Given the description of an element on the screen output the (x, y) to click on. 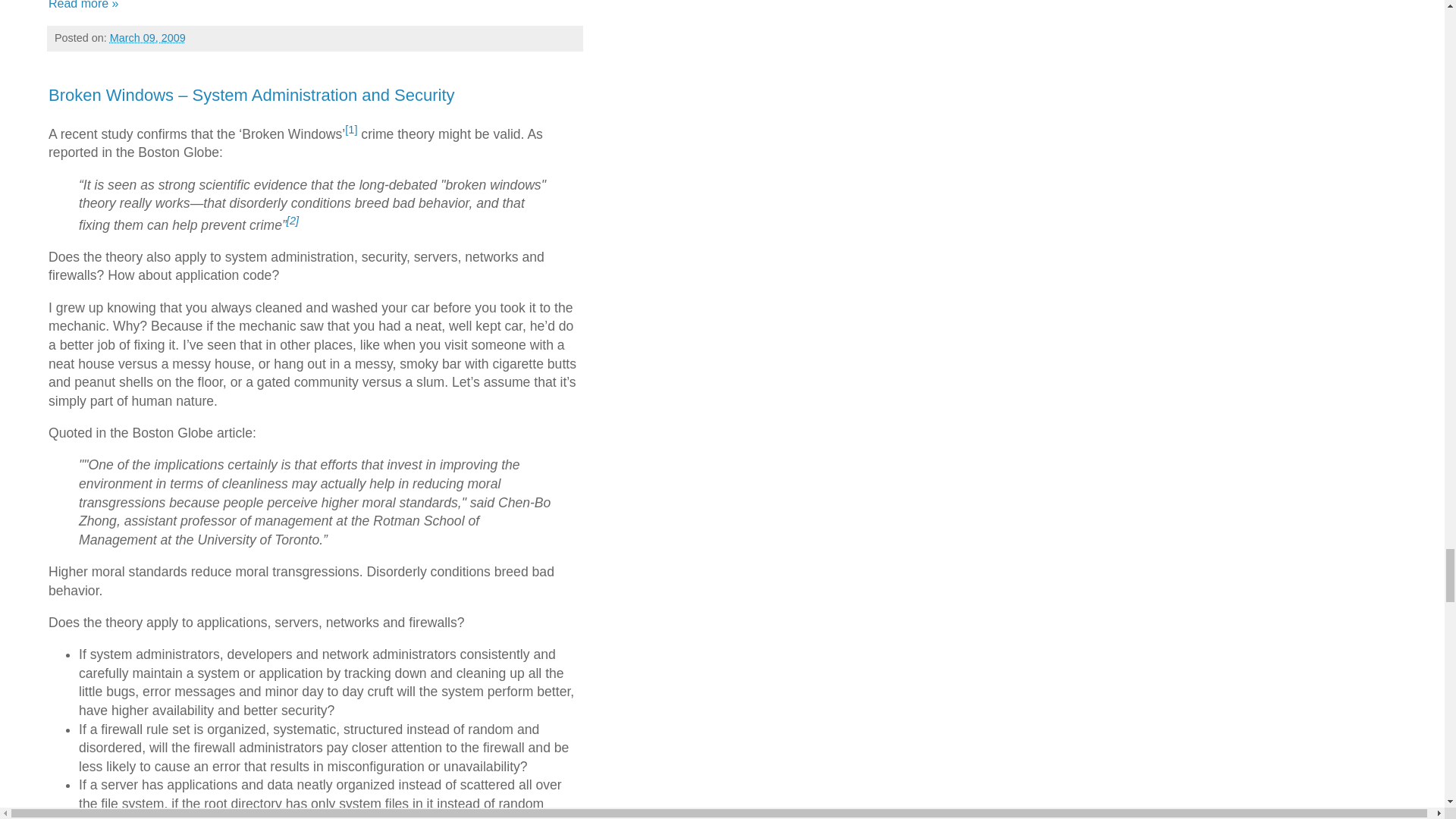
March 09, 2009 (148, 37)
permanent link (148, 37)
